Given the description of an element on the screen output the (x, y) to click on. 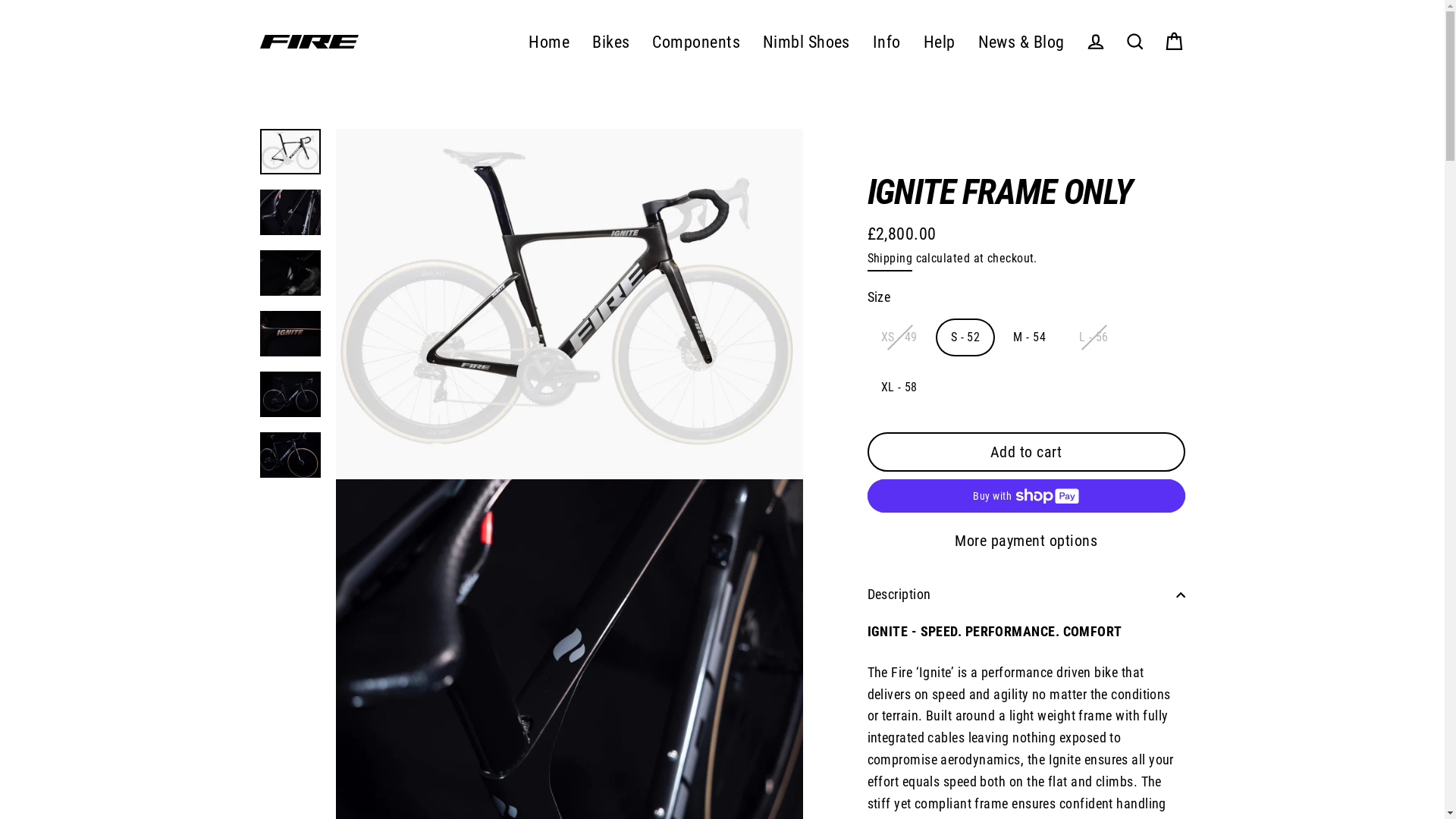
Description Element type: text (1026, 594)
Add to cart Element type: text (1026, 451)
Components Element type: text (695, 41)
Cart Element type: text (1173, 41)
Bikes Element type: text (610, 41)
Search Element type: text (1134, 41)
Home Element type: text (548, 41)
Info Element type: text (886, 41)
Log in Element type: text (1094, 41)
Help Element type: text (939, 41)
News & Blog Element type: text (1021, 41)
More payment options Element type: text (1026, 540)
Skip to content Element type: text (0, 0)
Shipping Element type: text (890, 259)
Nimbl Shoes Element type: text (806, 41)
